Given the description of an element on the screen output the (x, y) to click on. 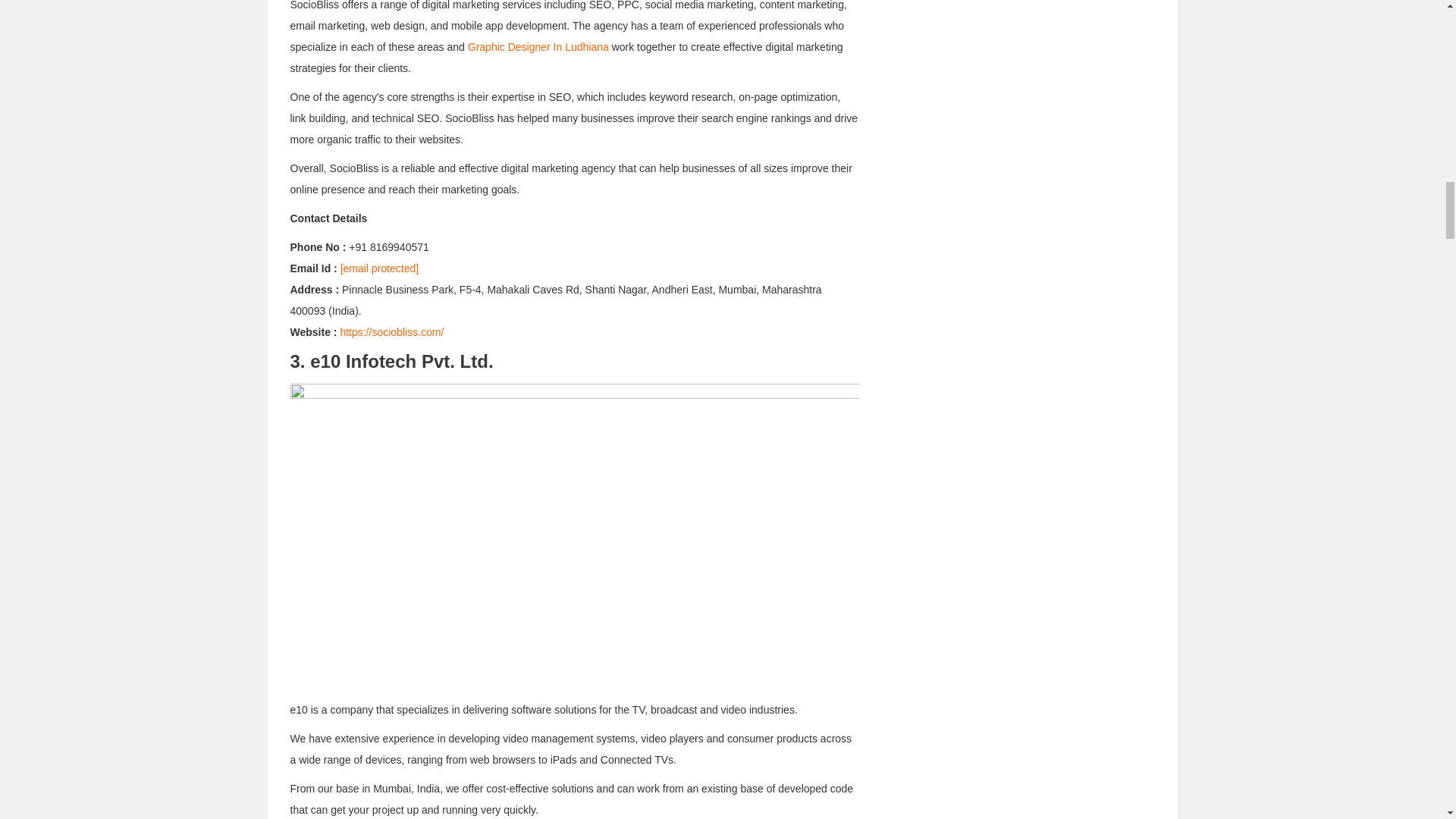
Graphic Designer In Ludhiana (539, 46)
